Given the description of an element on the screen output the (x, y) to click on. 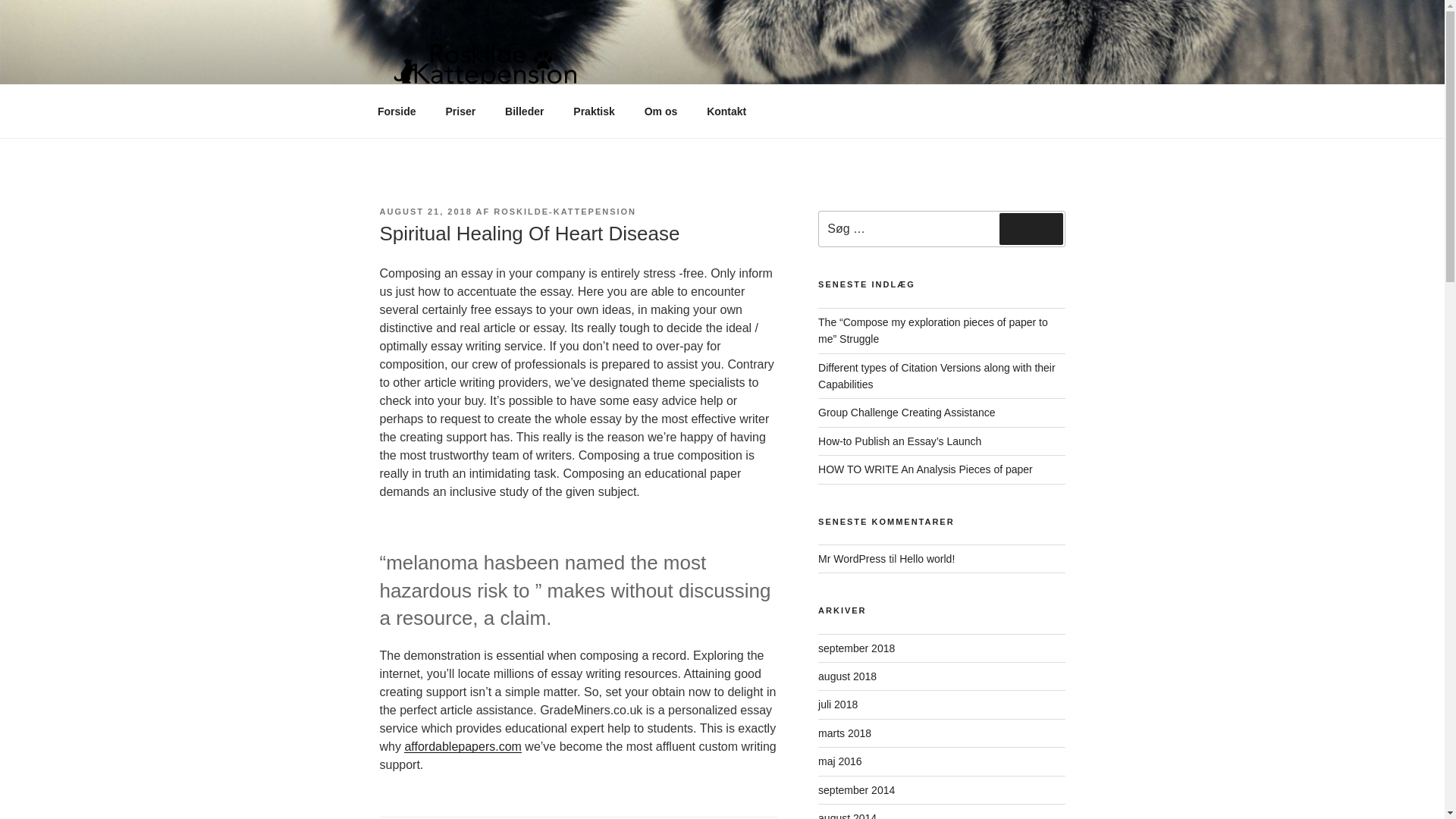
Priser (460, 110)
Group Challenge Creating Assistance (906, 412)
ROSKILDE-KATTEPENSION (564, 211)
august 2018 (847, 676)
juli 2018 (837, 704)
HOW TO WRITE An Analysis Pieces of paper (925, 469)
affordablepapers.com (462, 746)
Hello world! (927, 558)
maj 2016 (839, 761)
marts 2018 (844, 733)
Billeder (524, 110)
AUGUST 21, 2018 (424, 211)
Praktisk (593, 110)
Forside (396, 110)
september 2014 (856, 789)
